Given the description of an element on the screen output the (x, y) to click on. 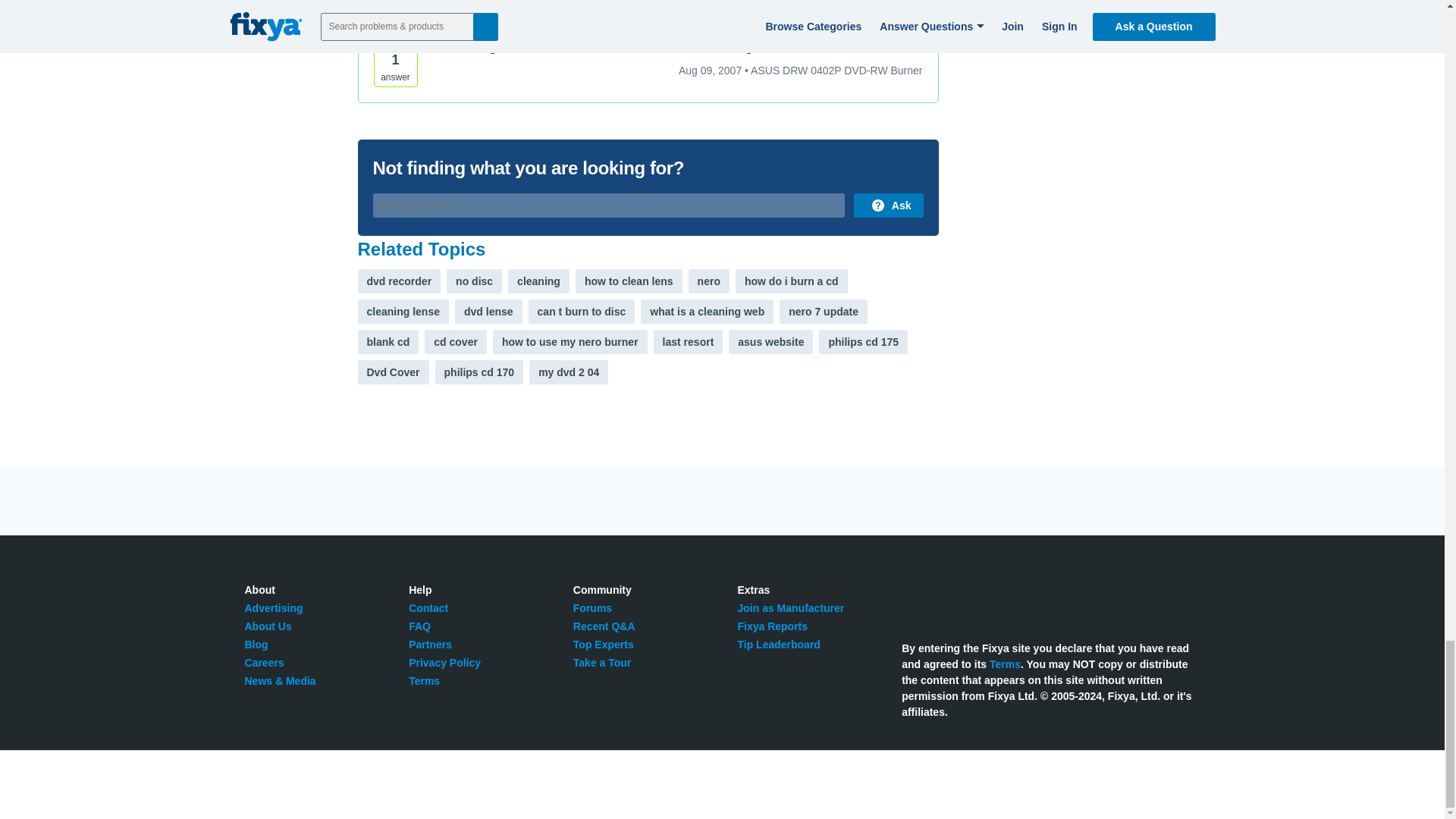
Ask (888, 205)
